Given the description of an element on the screen output the (x, y) to click on. 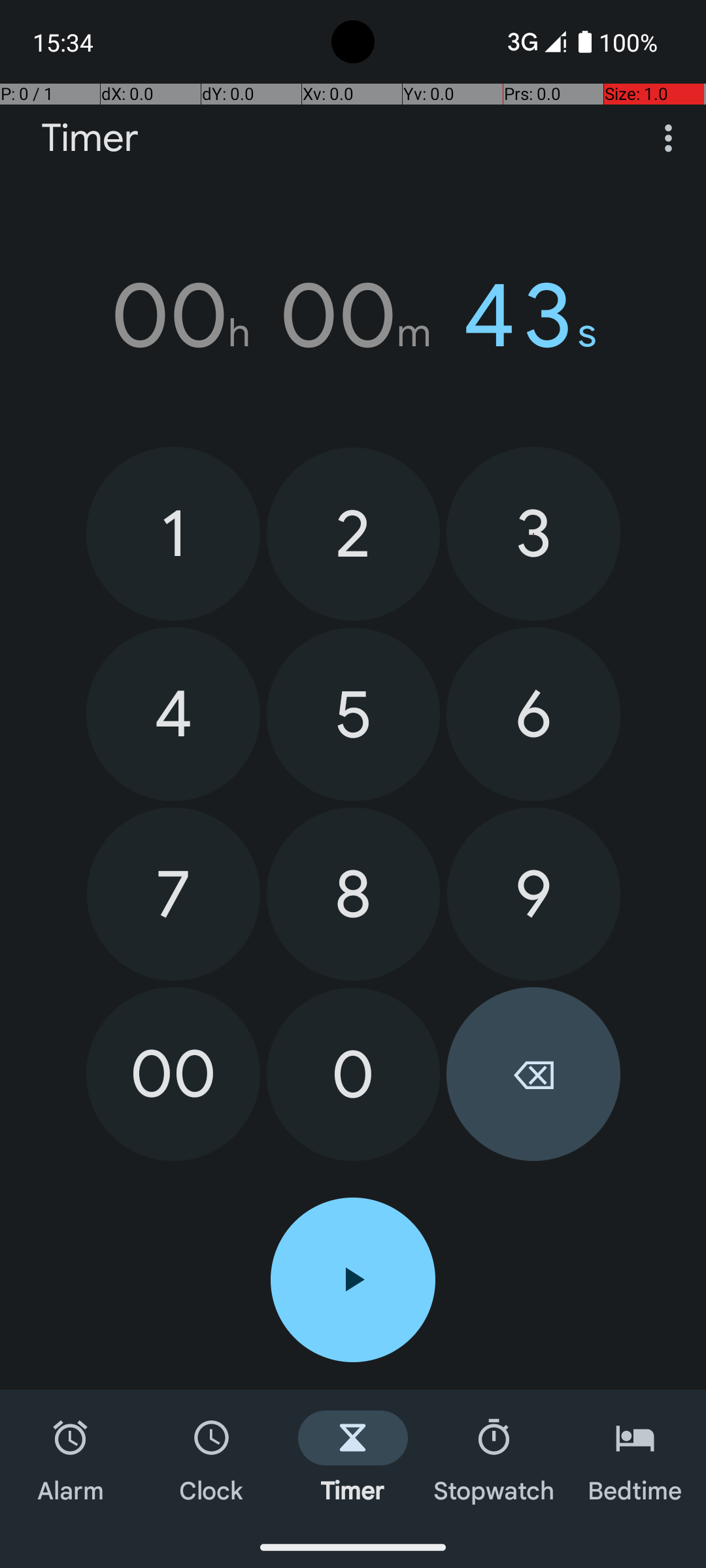
00h 00m 43s Element type: android.widget.TextView (353, 315)
